Given the description of an element on the screen output the (x, y) to click on. 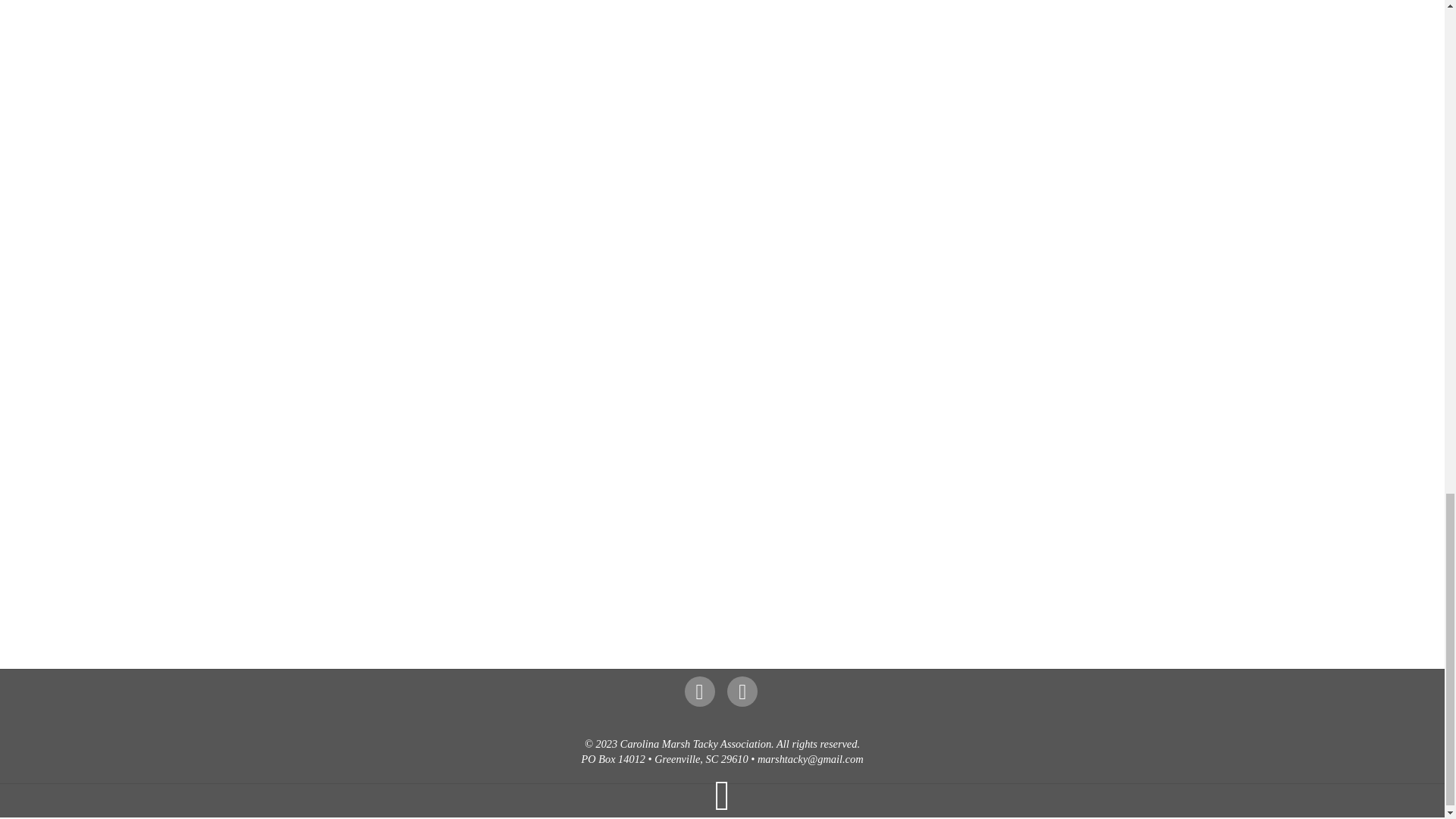
Facebook (744, 689)
Twitter (701, 689)
